Given the description of an element on the screen output the (x, y) to click on. 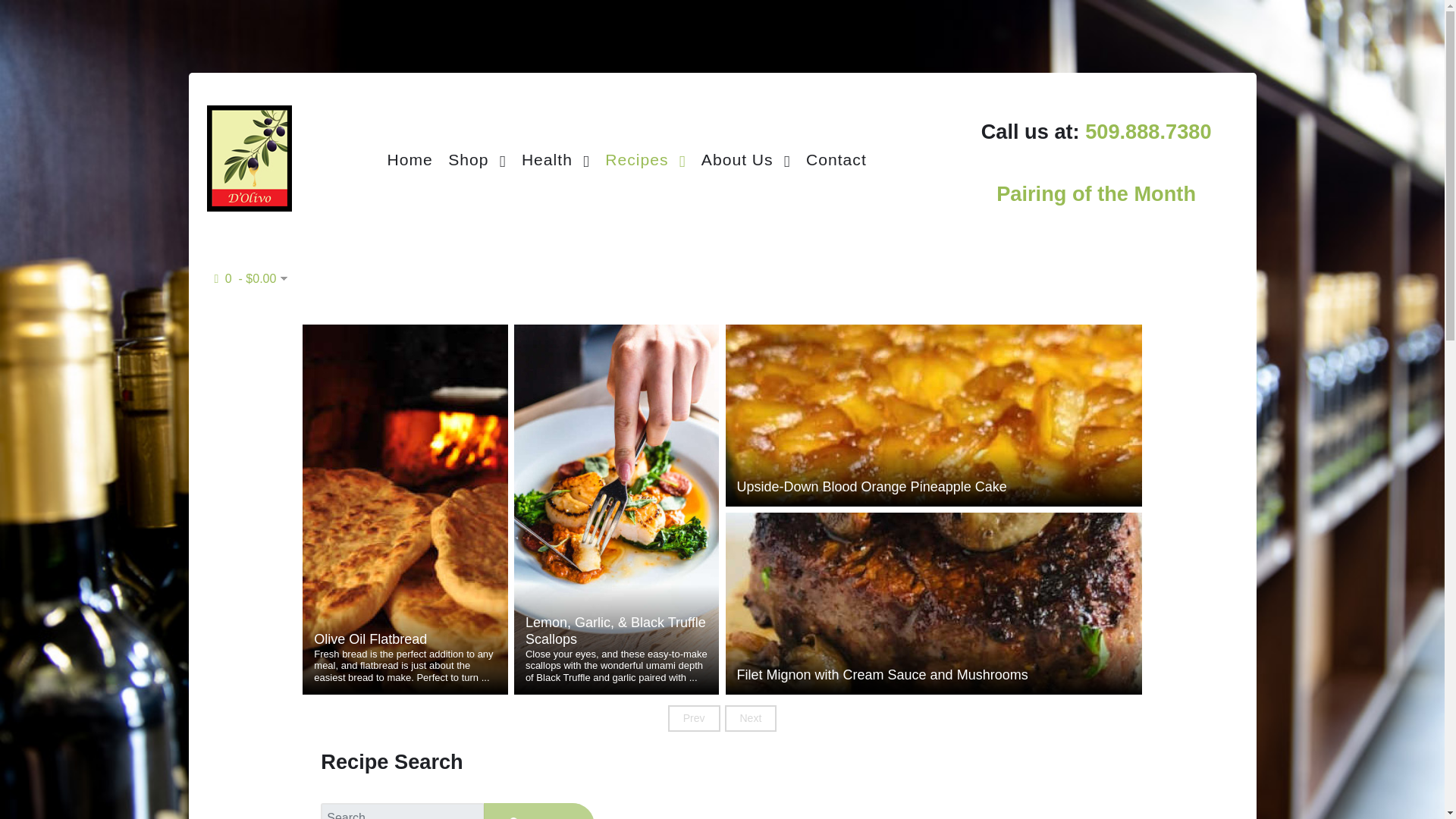
Home (409, 158)
Pairing of the Month (1095, 193)
Prev (694, 718)
Shop (477, 158)
Upside-Down Blood Orange Pineapple Cake (933, 487)
Search (538, 811)
Contact (835, 158)
Olive Oil Flatbread (405, 639)
Filet Mignon with Cream Sauce and Mushrooms (933, 675)
509.888.7380 (1147, 146)
Next (751, 718)
Contact (835, 158)
